Given the description of an element on the screen output the (x, y) to click on. 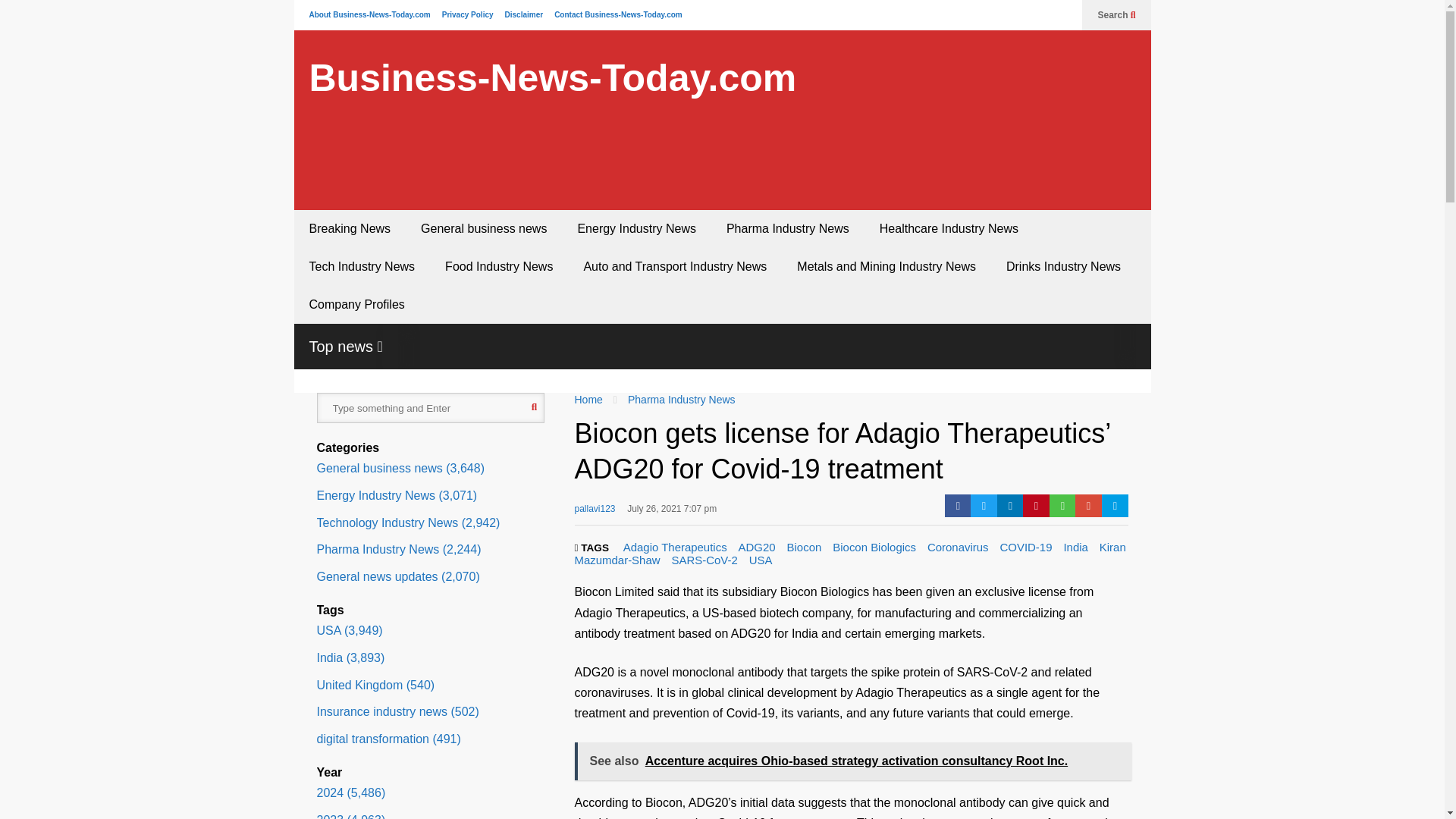
Business-News-Today.com (552, 78)
Privacy Policy (467, 14)
Pharma Industry News (681, 399)
July 26, 2021 7:07 pm (671, 513)
Pharma Industry News (787, 228)
Healthcare Industry News (948, 228)
Auto and Transport Industry News (674, 266)
Twitter (984, 505)
Facebook (957, 505)
pallavi123 (595, 513)
